Given the description of an element on the screen output the (x, y) to click on. 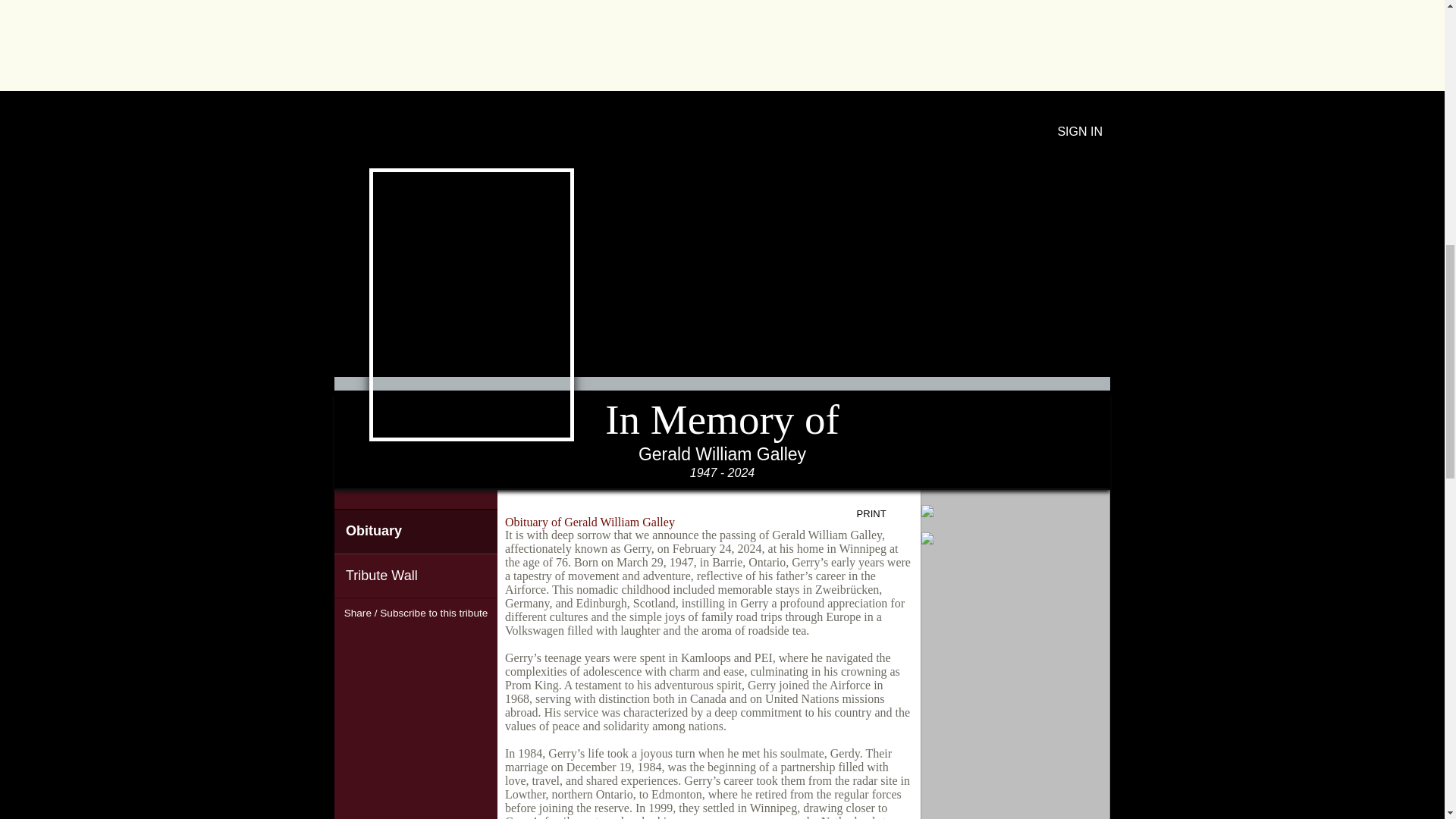
Facebook (387, 640)
Twitter (415, 640)
Print (882, 514)
Receive Notifications (442, 640)
